Given the description of an element on the screen output the (x, y) to click on. 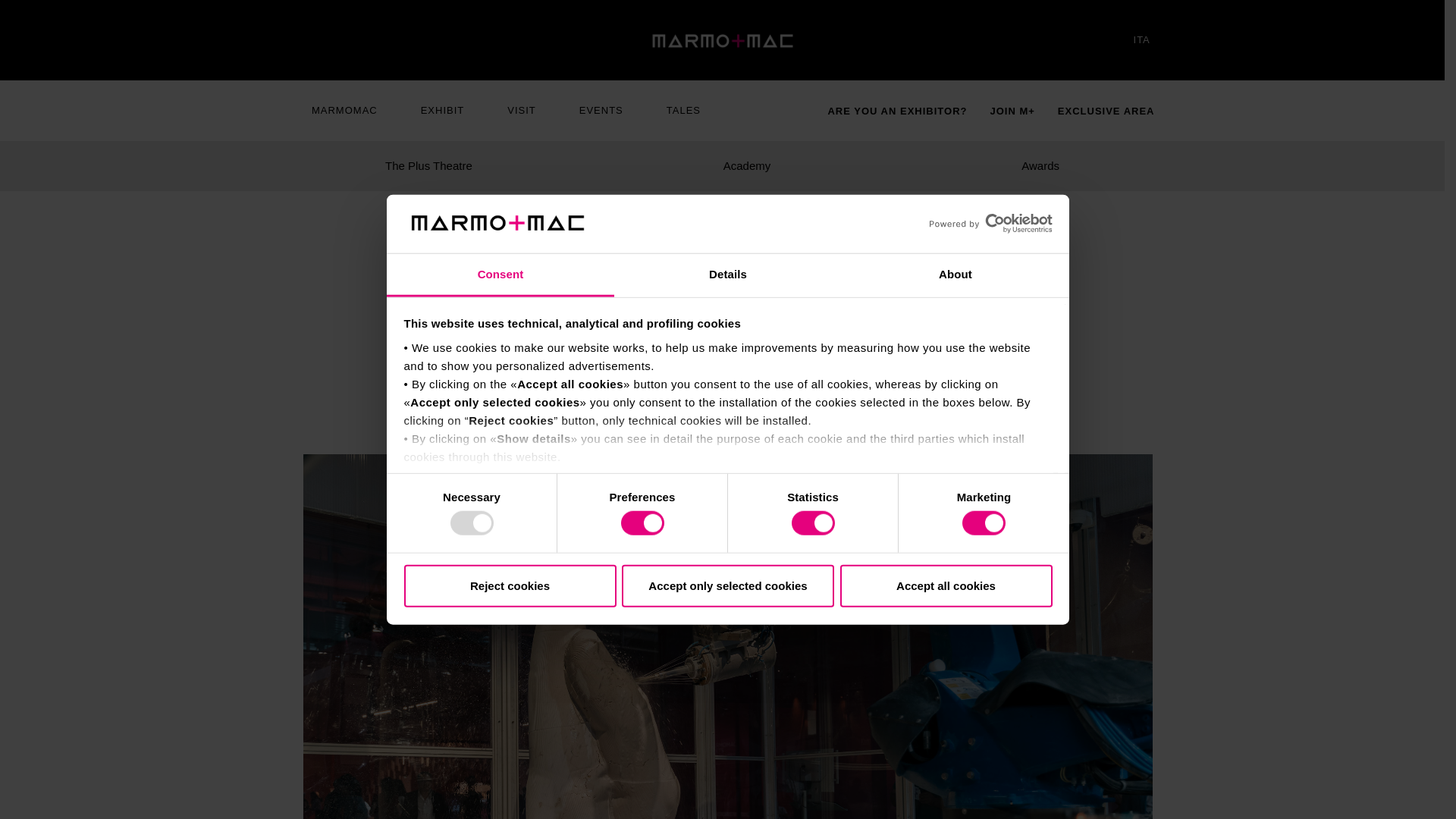
Consent (500, 275)
About (954, 275)
Click here (441, 474)
Details (727, 275)
